Given the description of an element on the screen output the (x, y) to click on. 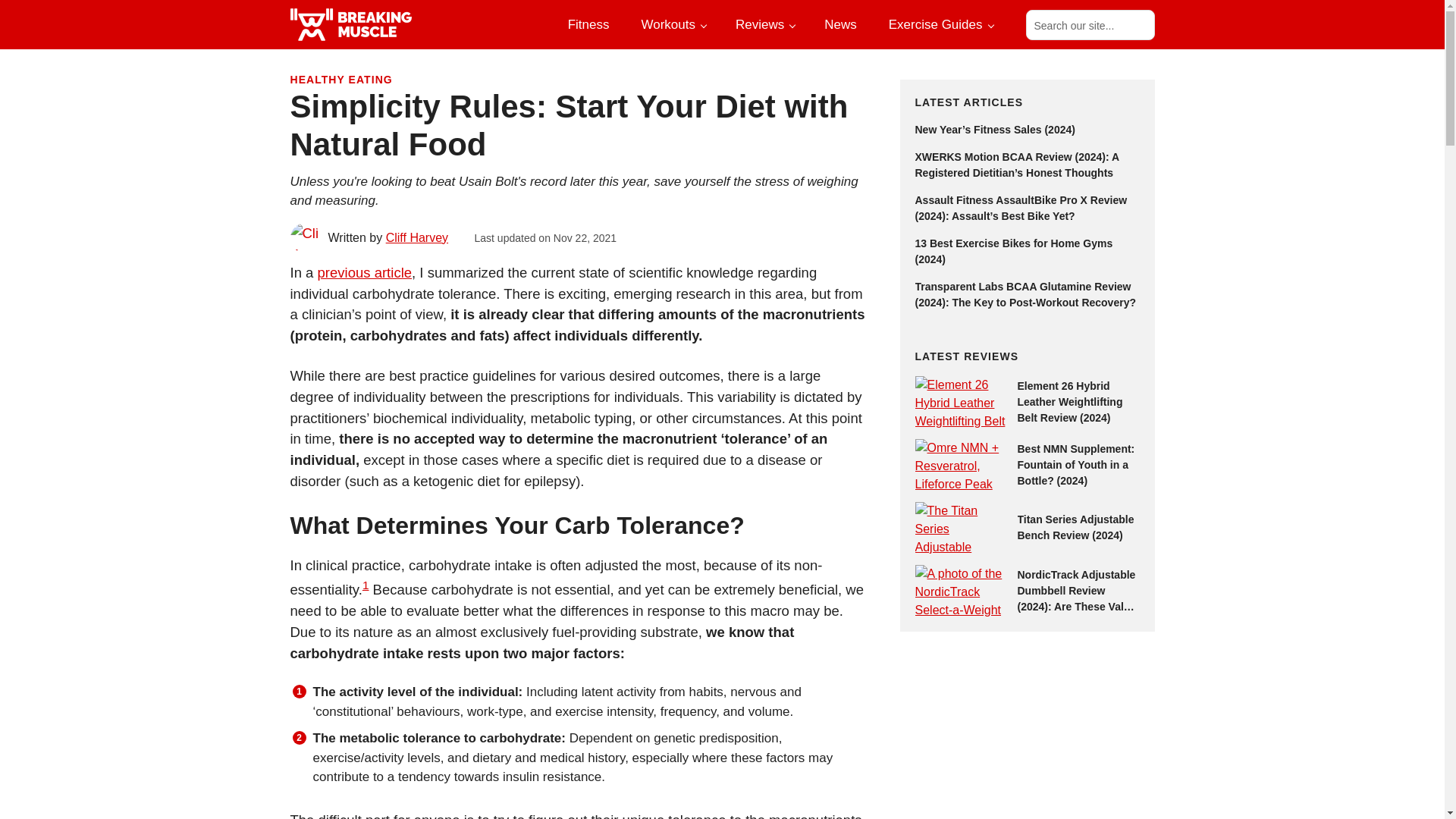
Workouts (672, 24)
Submit search (1138, 24)
Fitness (588, 24)
Submit search (1138, 24)
Reviews (764, 24)
